Given the description of an element on the screen output the (x, y) to click on. 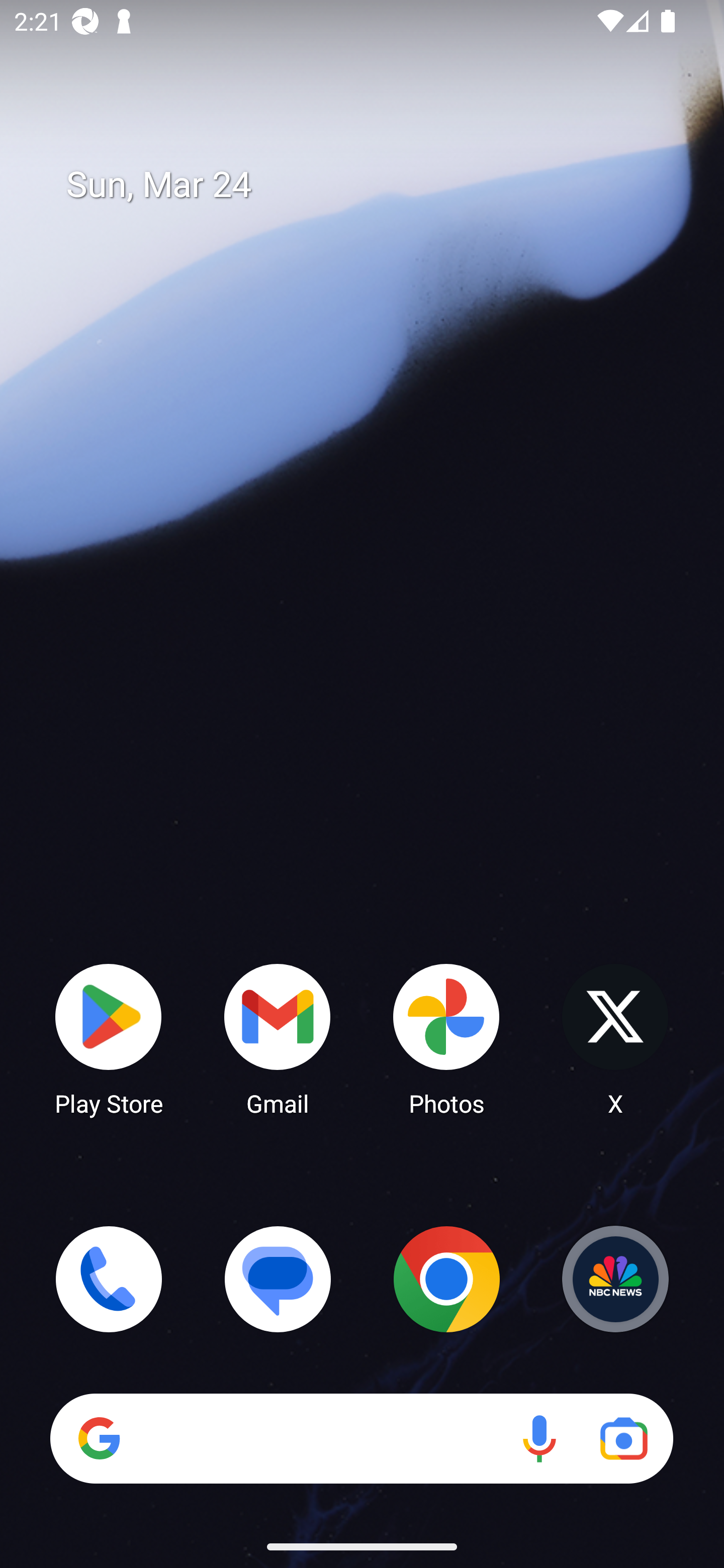
Sun, Mar 24 (375, 184)
Play Store (108, 1038)
Gmail (277, 1038)
Photos (445, 1038)
X (615, 1038)
Phone (108, 1279)
Messages (277, 1279)
Chrome (446, 1279)
NBC NEWS Predicted app: NBC NEWS (615, 1279)
Voice search (539, 1438)
Google Lens (623, 1438)
